Given the description of an element on the screen output the (x, y) to click on. 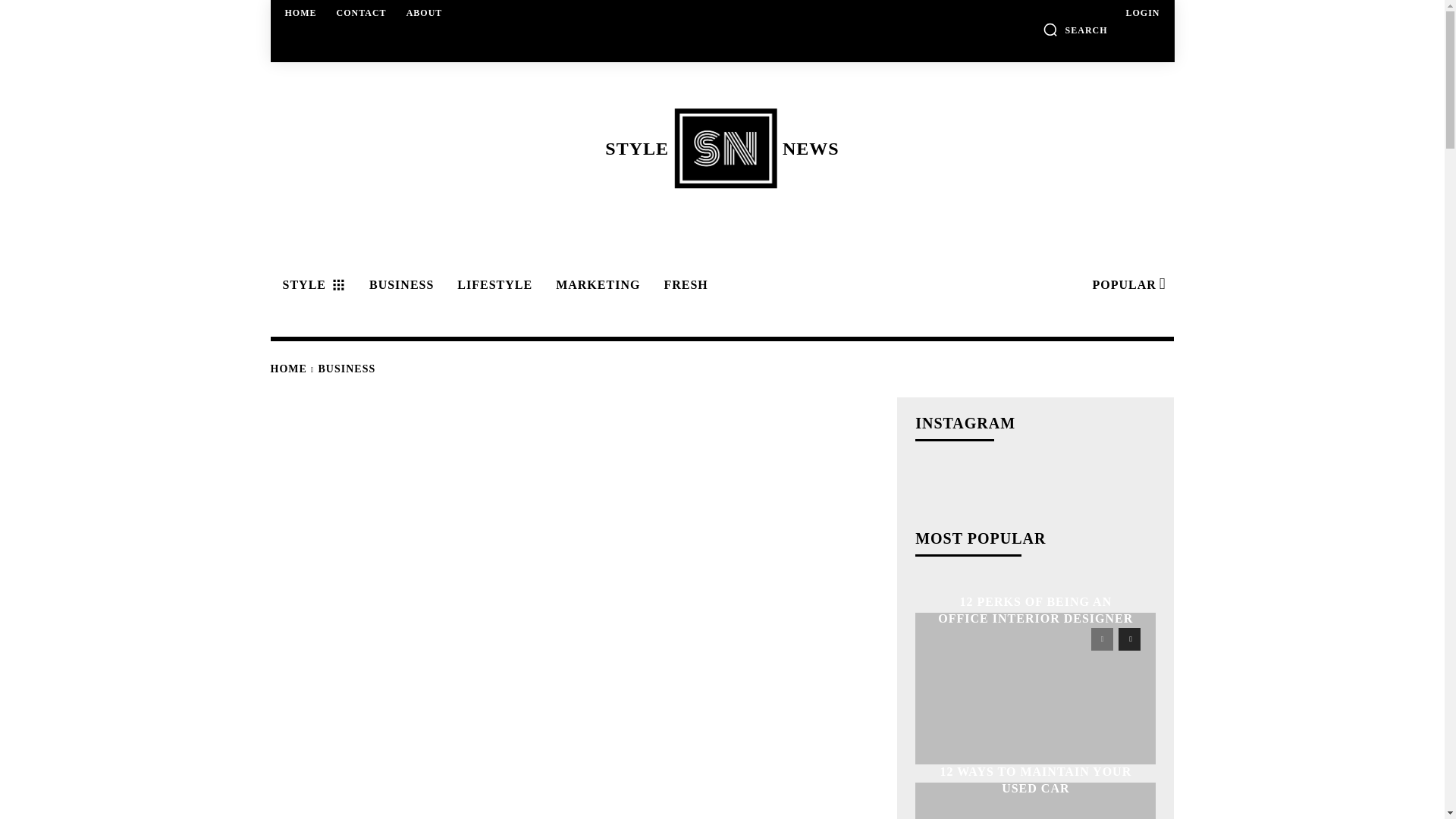
POPULAR (721, 148)
STYLE (1126, 285)
ABOUT (310, 285)
CONTACT (423, 12)
SEARCH (361, 12)
LOGIN (1075, 29)
HOME (1141, 12)
